Given the description of an element on the screen output the (x, y) to click on. 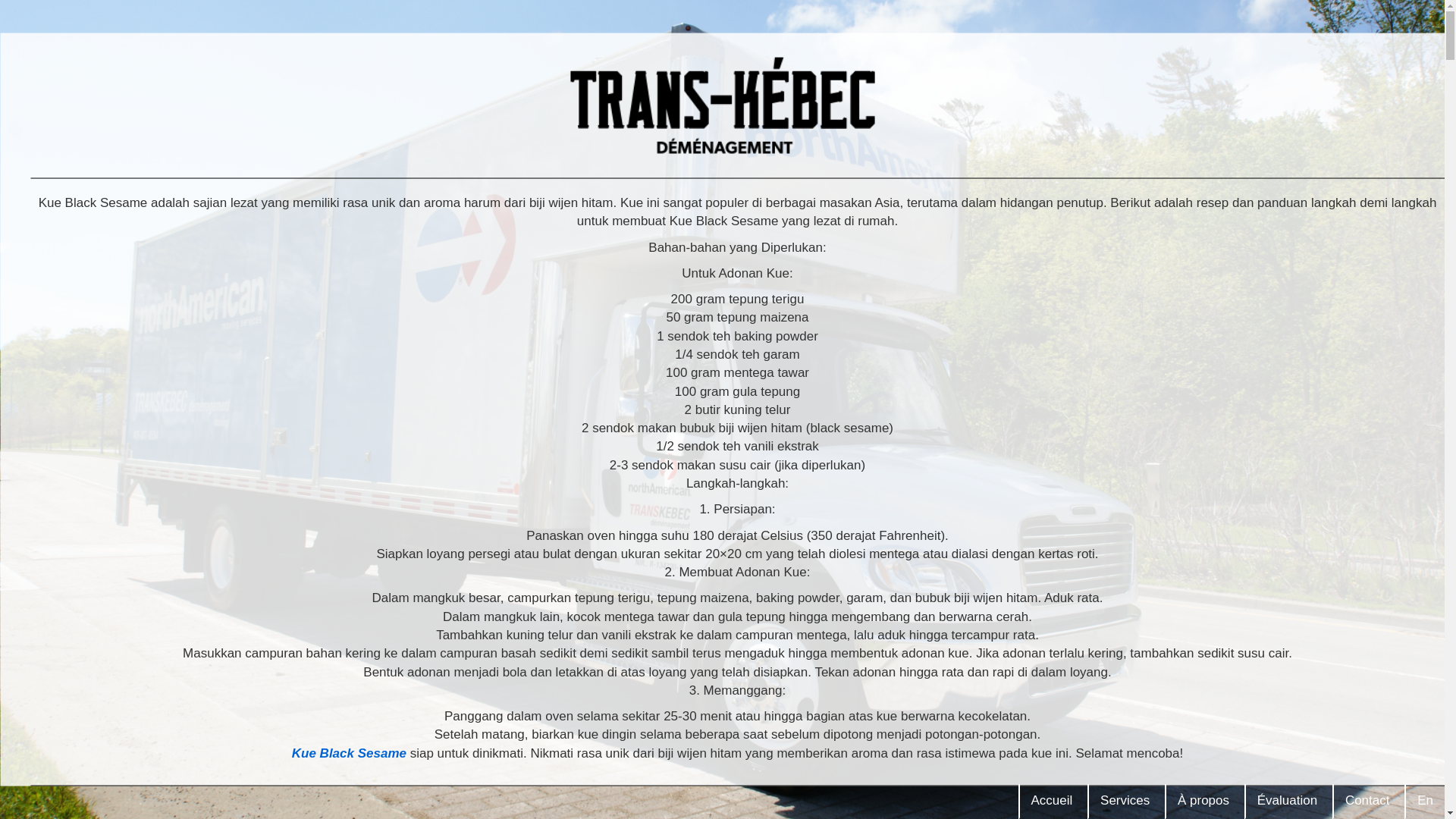
Services (1123, 801)
Contact (1366, 801)
Accueil (1051, 801)
Kue Black Sesame (349, 752)
